Given the description of an element on the screen output the (x, y) to click on. 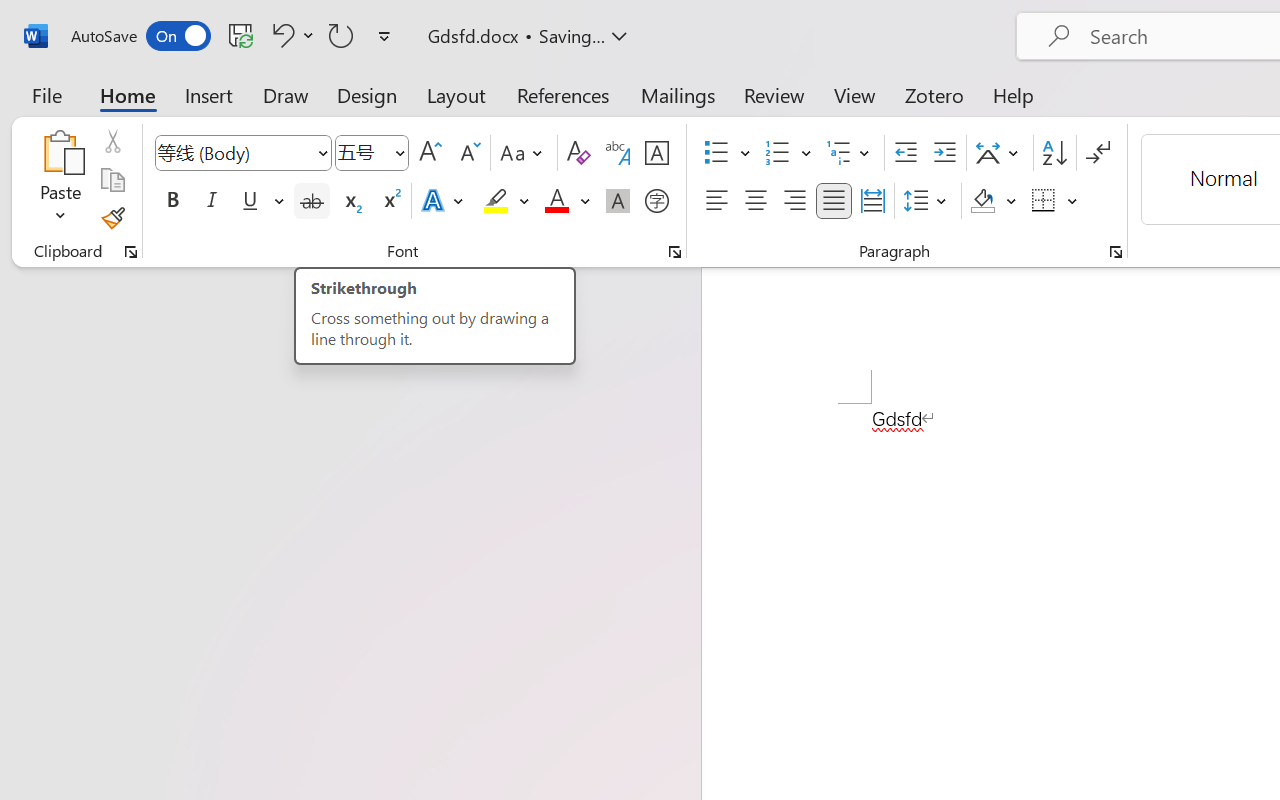
Copy (112, 179)
Text Highlight Color Yellow (495, 201)
Clear Formatting (578, 153)
Office Clipboard... (131, 252)
Increase Indent (944, 153)
Align Right (794, 201)
Font Color Red (556, 201)
Character Shading (618, 201)
